Given the description of an element on the screen output the (x, y) to click on. 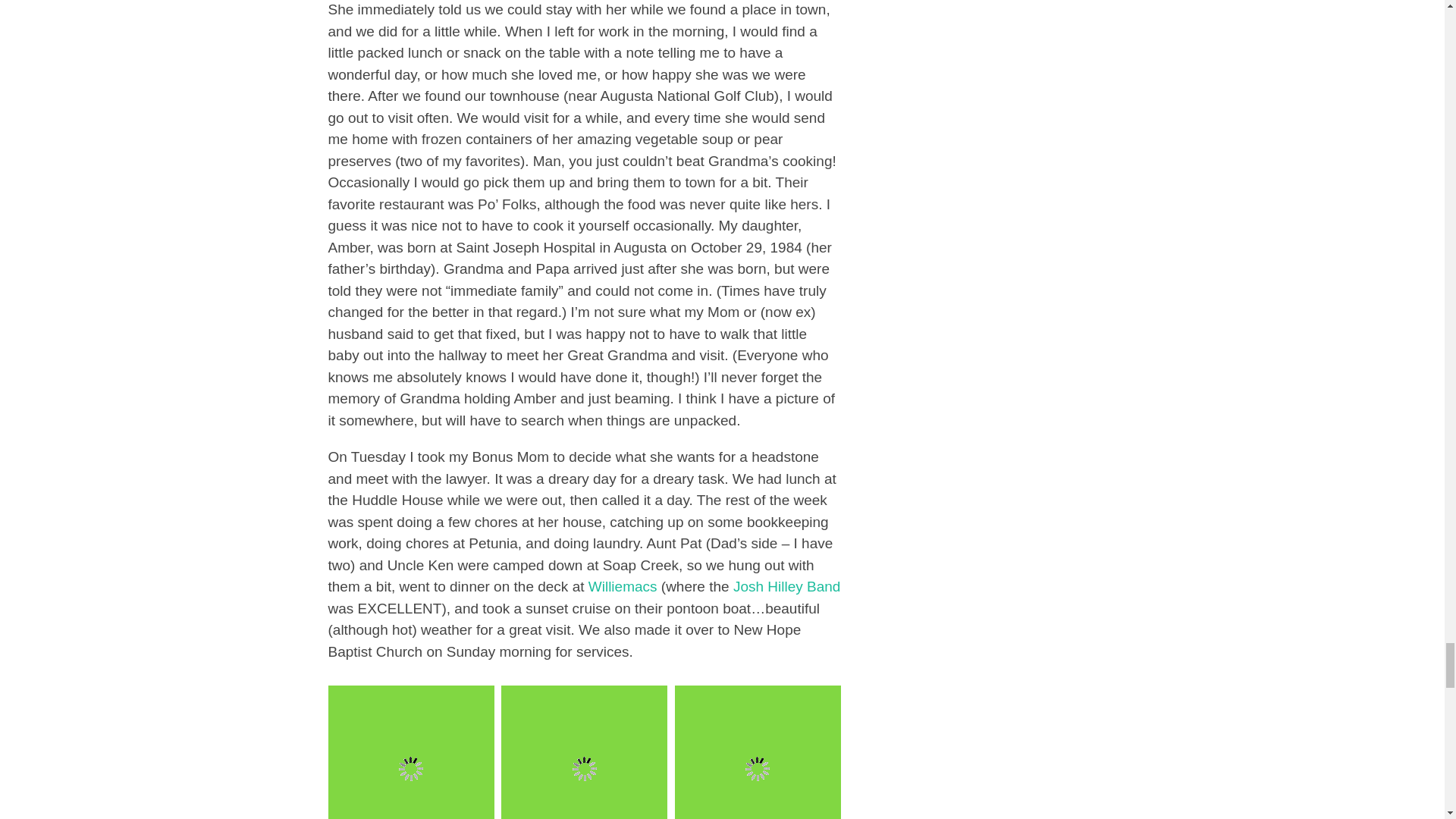
Josh Hilley Band (787, 586)
Williemacs (623, 586)
